Given the description of an element on the screen output the (x, y) to click on. 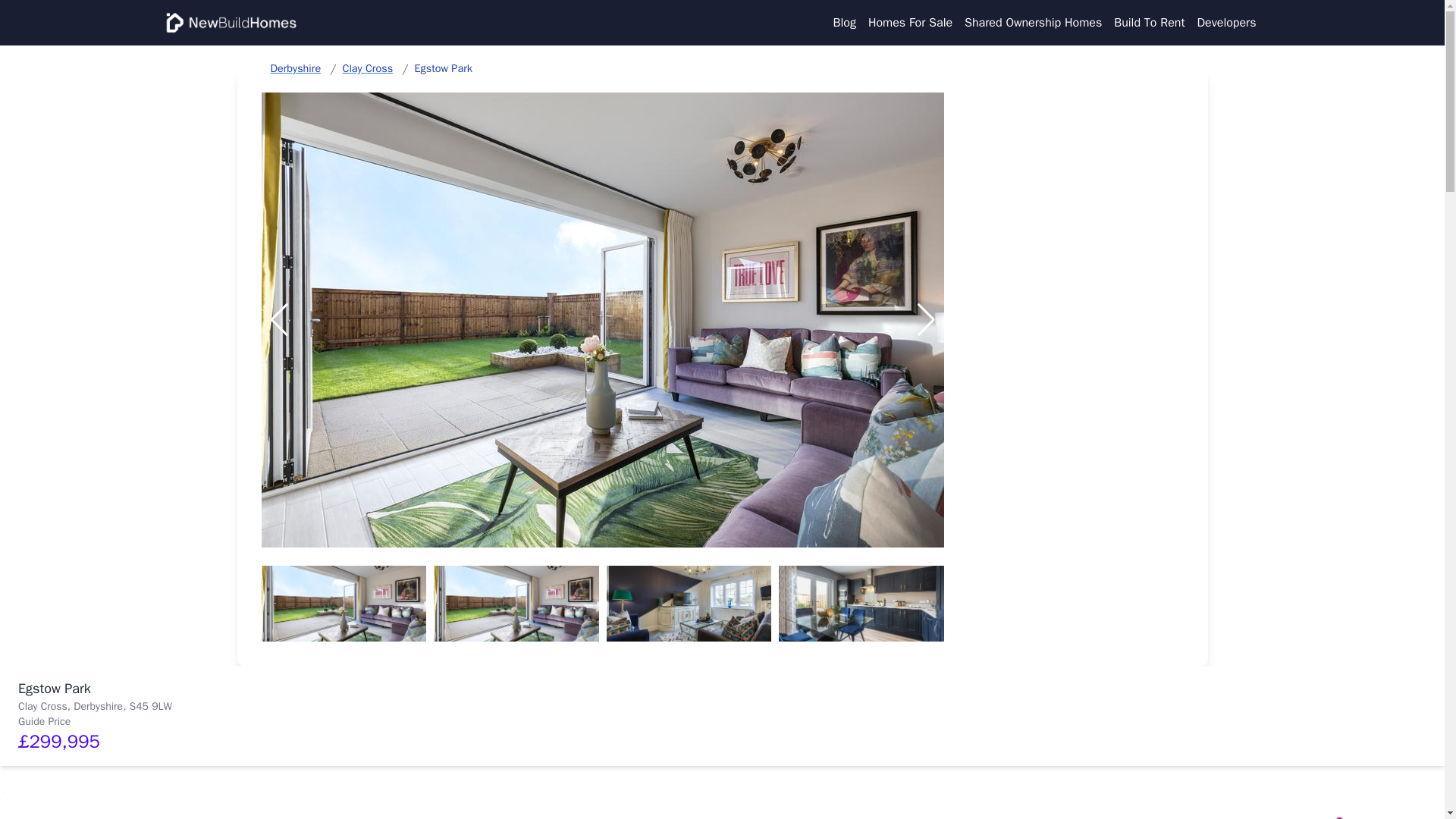
Build To Rent (1149, 22)
Homes For Sale (909, 22)
Derbyshire (294, 68)
Shared Ownership Homes (1032, 22)
Developers (1226, 22)
Clay Cross (367, 68)
Blog (844, 22)
